Given the description of an element on the screen output the (x, y) to click on. 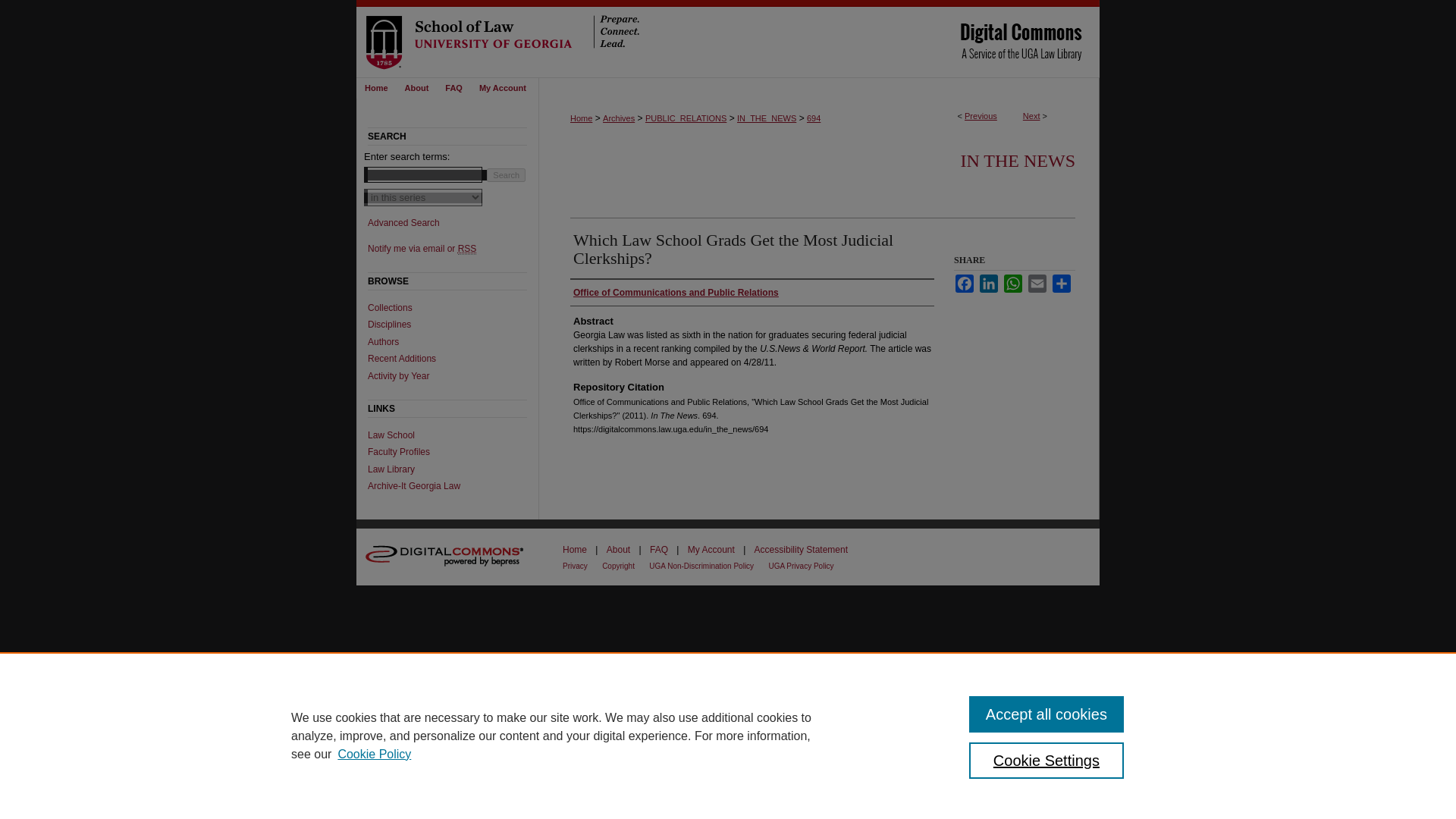
LinkedIn (988, 283)
Search (505, 174)
Collections (453, 307)
Advanced Search (403, 222)
Law School (453, 434)
IN THE NEWS (1017, 160)
My Account (502, 87)
Archives (618, 117)
WhatsApp (1013, 283)
Share (1061, 283)
Previous (980, 115)
Browse by Author (453, 341)
Activity by Year (453, 376)
Browse by Collections (453, 307)
About (417, 87)
